Given the description of an element on the screen output the (x, y) to click on. 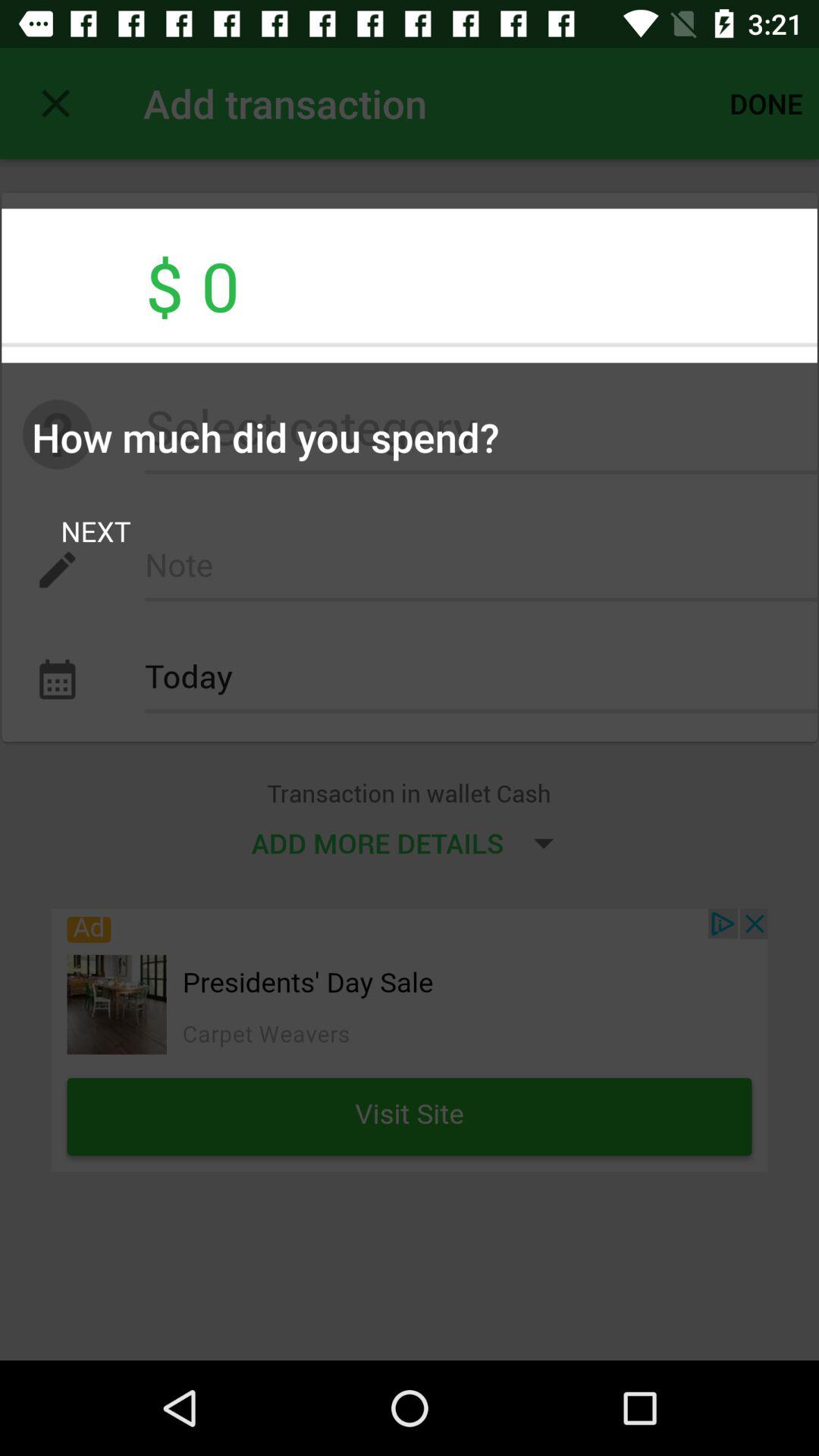
click the next item (95, 531)
